Given the description of an element on the screen output the (x, y) to click on. 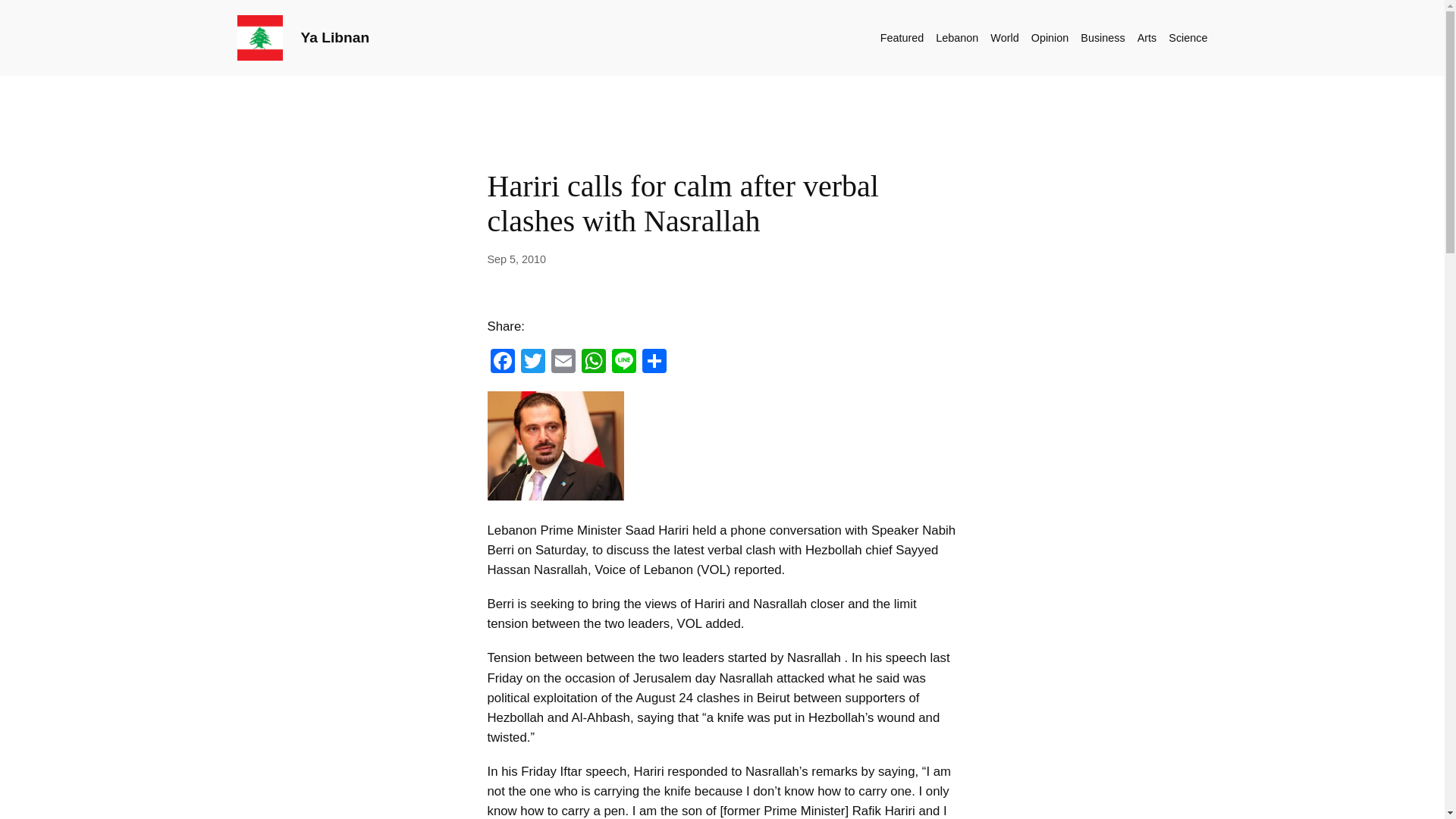
Line (623, 362)
Lebanon (957, 37)
Line (623, 362)
World (1003, 37)
Facebook (501, 362)
Twitter (531, 362)
hariri sidon iftar- (554, 445)
Ya Libnan (334, 37)
WhatsApp (593, 362)
Arts (1147, 37)
